Given the description of an element on the screen output the (x, y) to click on. 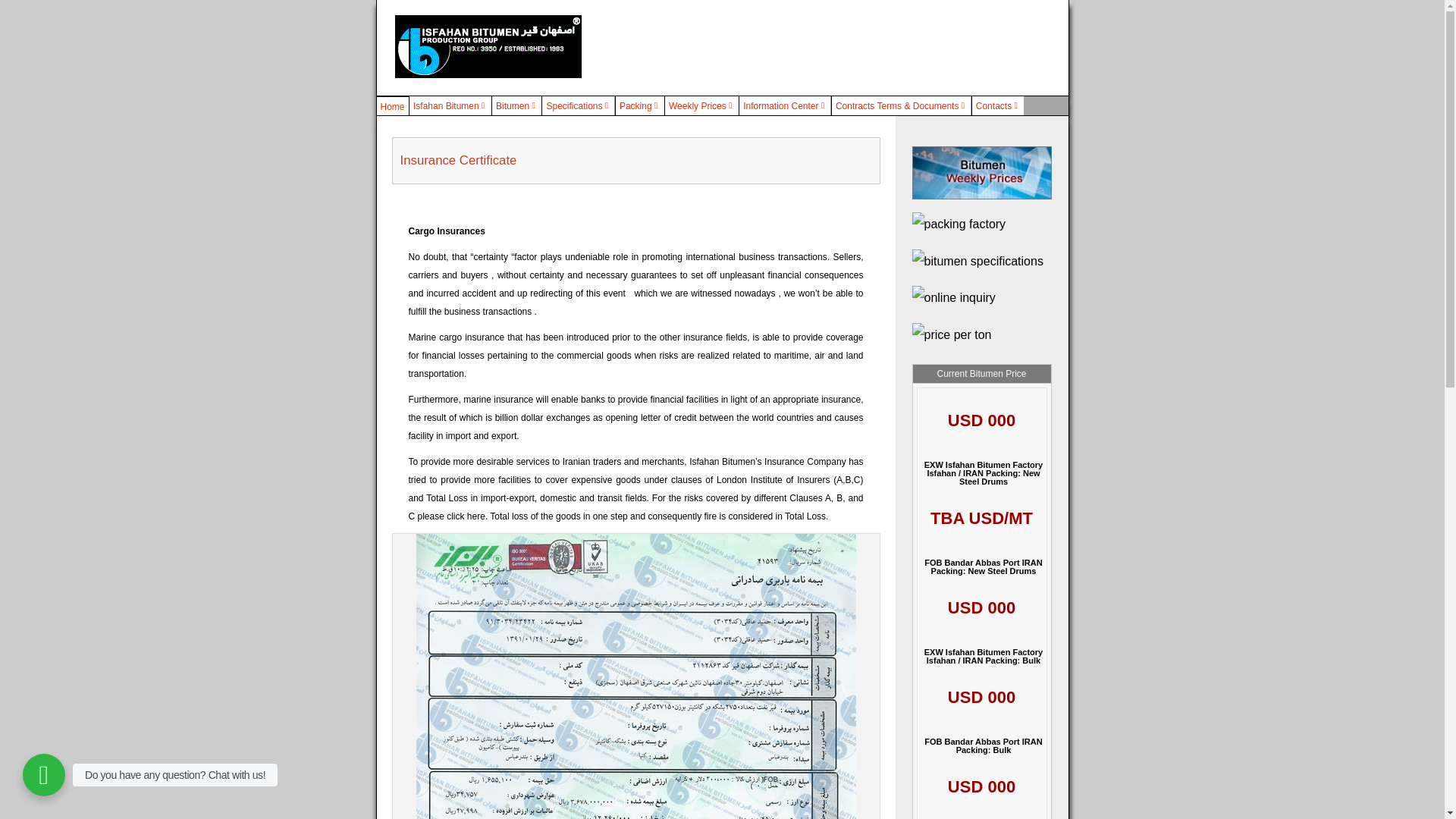
Bitumen (516, 105)
Home (392, 106)
Iran Bitumen online inquiry (952, 297)
Isfahan Bitumen (450, 105)
Iran Bitumen bitumen specifications (976, 261)
Iran Bitumen Packing Factory (958, 224)
Specifications (578, 105)
Iran Bitumen weekly price (981, 172)
"Iran (951, 334)
